Given the description of an element on the screen output the (x, y) to click on. 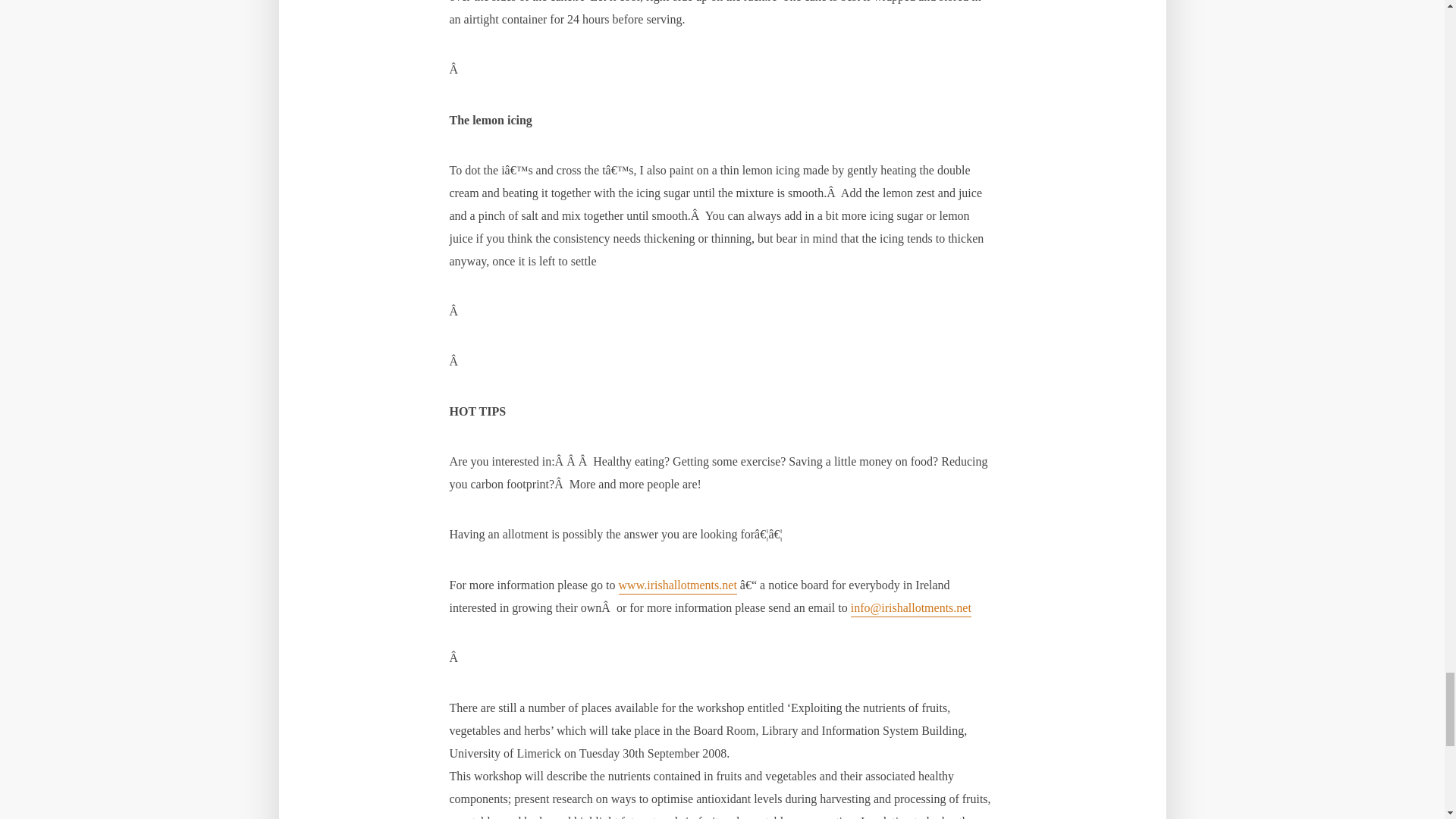
www.irishallotments.net (677, 585)
